Given the description of an element on the screen output the (x, y) to click on. 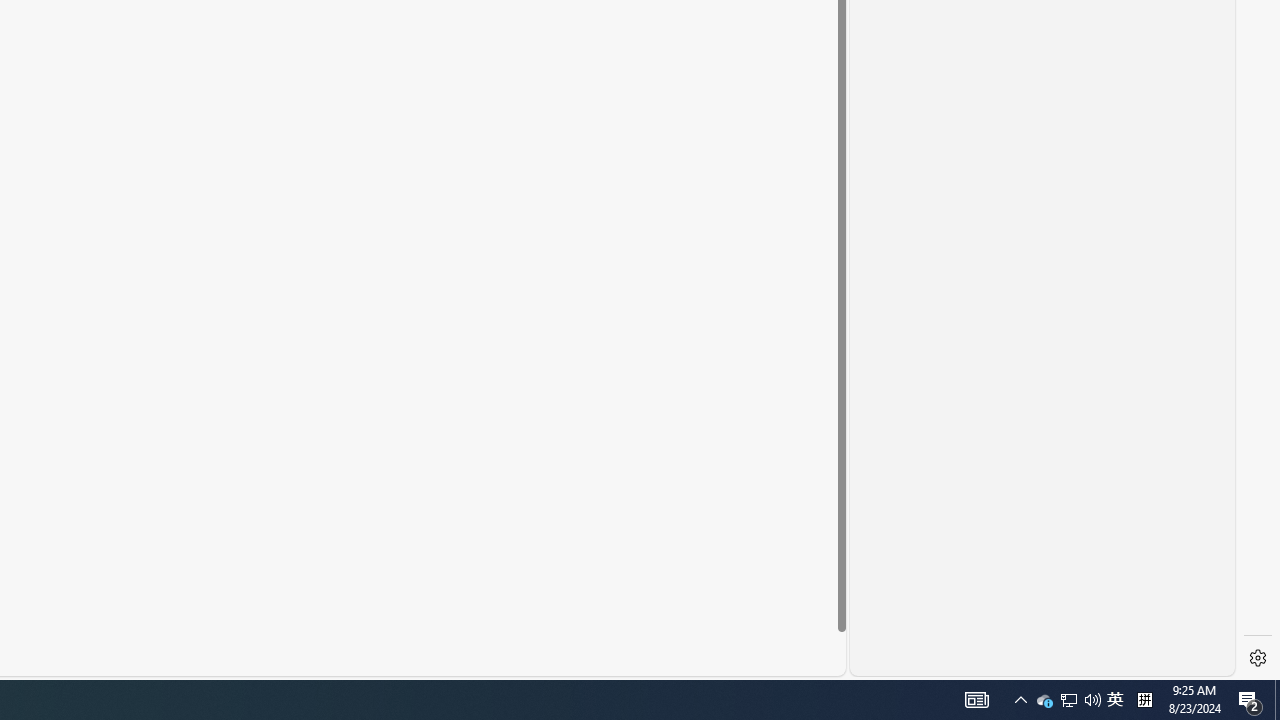
Q2790: 100% (1092, 699)
AutomationID: 4105 (976, 699)
Action Center, 2 new notifications (1069, 699)
User Promoted Notification Area (1250, 699)
Show desktop (1044, 699)
Tray Input Indicator - Chinese (Simplified, China) (1068, 699)
Notification Chevron (1115, 699)
